Given the description of an element on the screen output the (x, y) to click on. 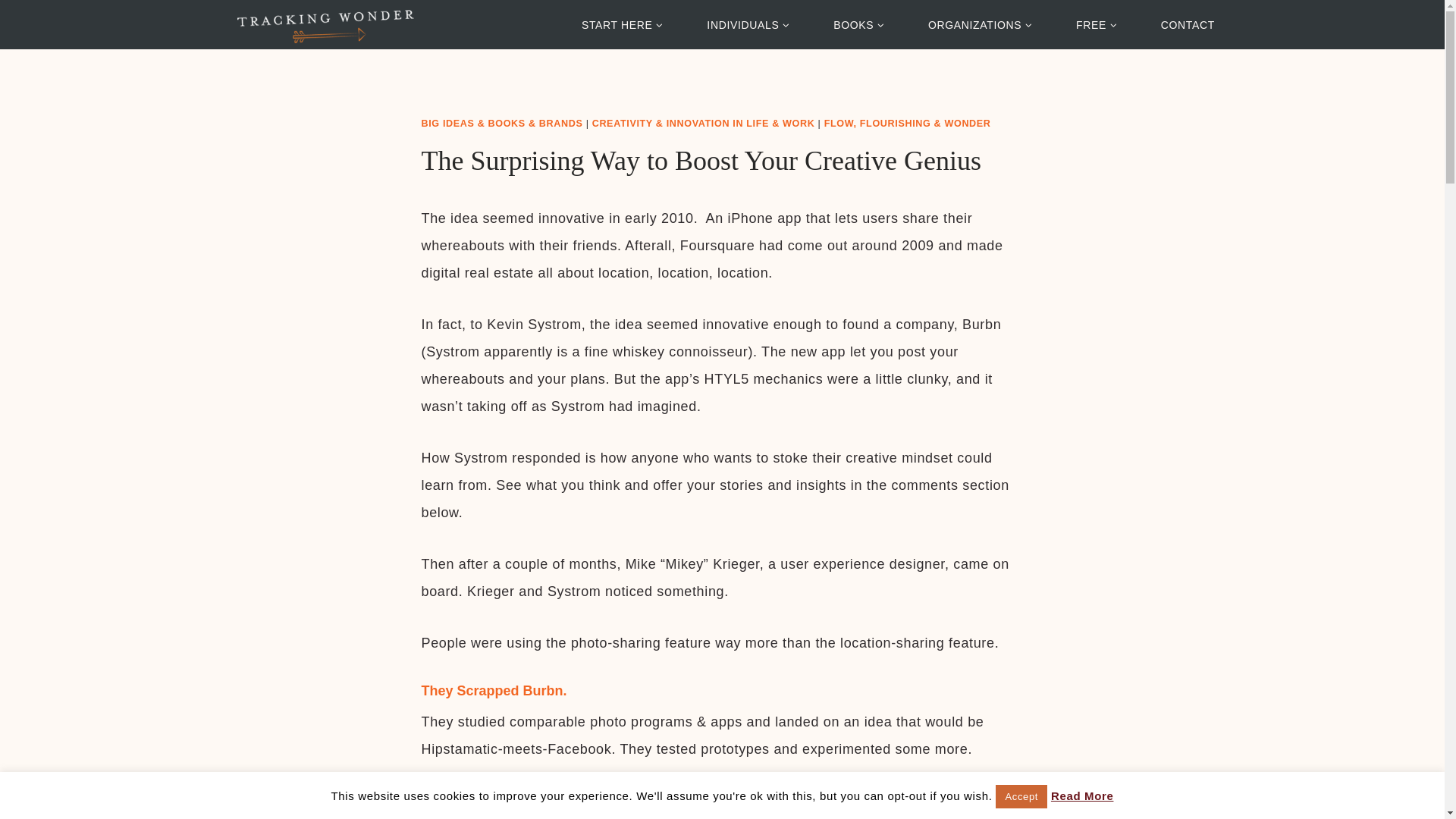
ORGANIZATIONS (980, 24)
FREE (1096, 24)
CONTACT (1188, 24)
BOOKS (858, 24)
START HERE (622, 24)
INDIVIDUALS (747, 24)
